Given the description of an element on the screen output the (x, y) to click on. 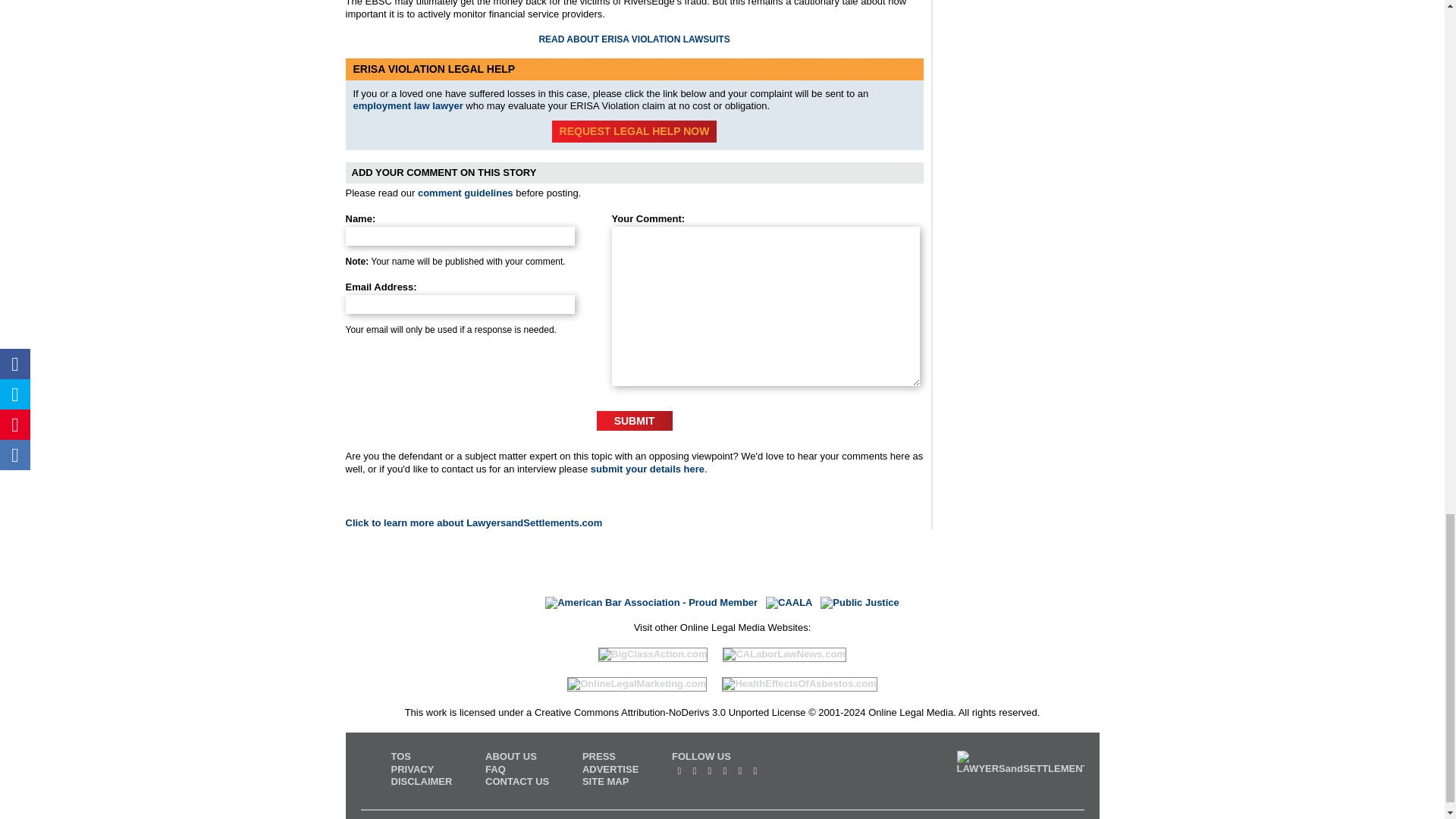
Follow us on LinkedIn (724, 770)
Follow us on Twitter (694, 770)
submit your details here (647, 469)
REQUEST LEGAL HELP NOW (634, 130)
employment law lawyer (408, 105)
Submit (634, 420)
Submit (634, 420)
Subscribe to RSS Feeds (679, 770)
Click to learn more about LawyersandSettlements.com (474, 522)
Follow us on FaceBook (709, 770)
Follow us on Pinterest (740, 770)
comment guidelines (465, 193)
Employment Law Lawyer (408, 105)
